Given the description of an element on the screen output the (x, y) to click on. 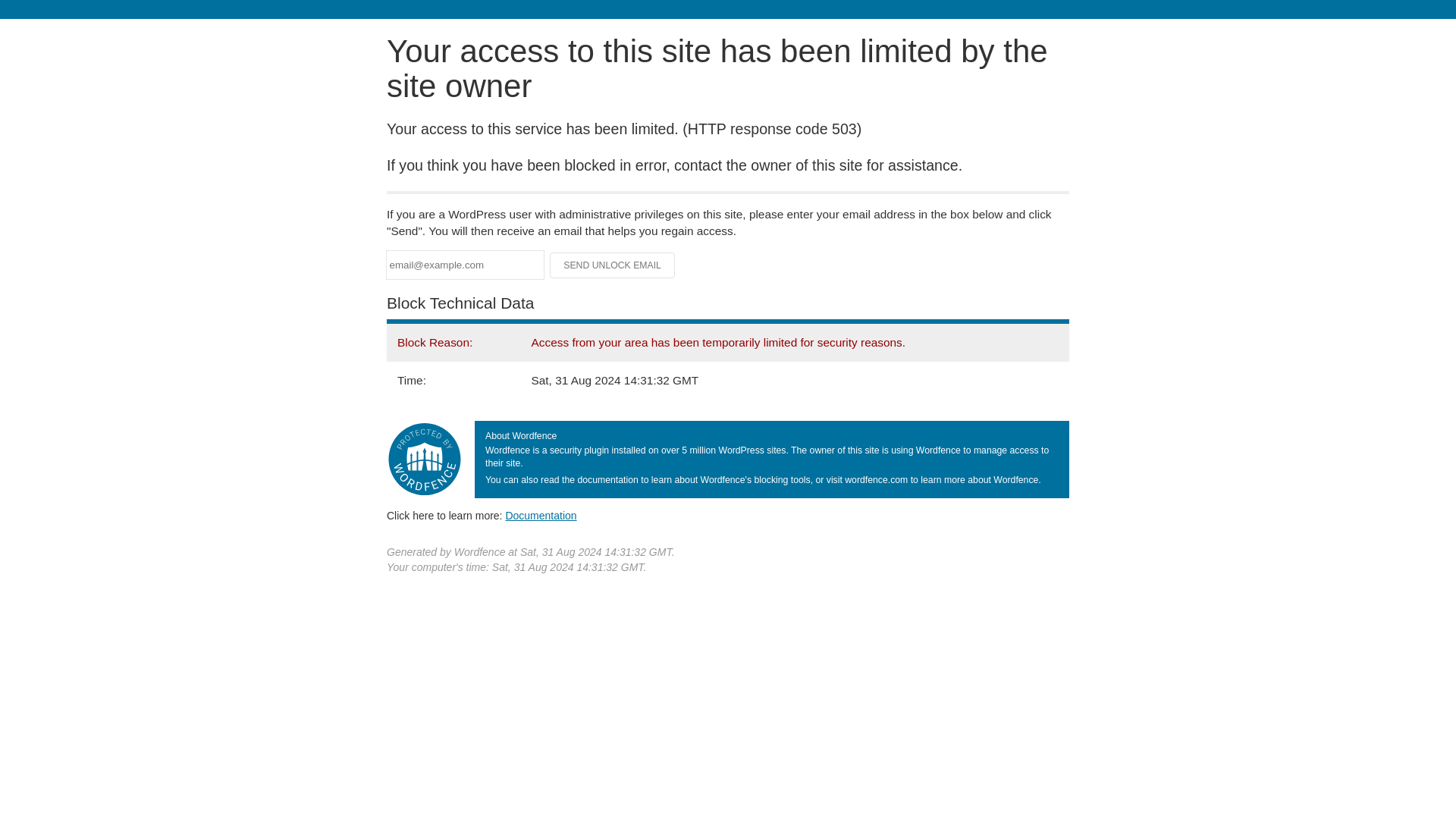
Send Unlock Email (612, 265)
Documentation (540, 515)
Send Unlock Email (612, 265)
